Given the description of an element on the screen output the (x, y) to click on. 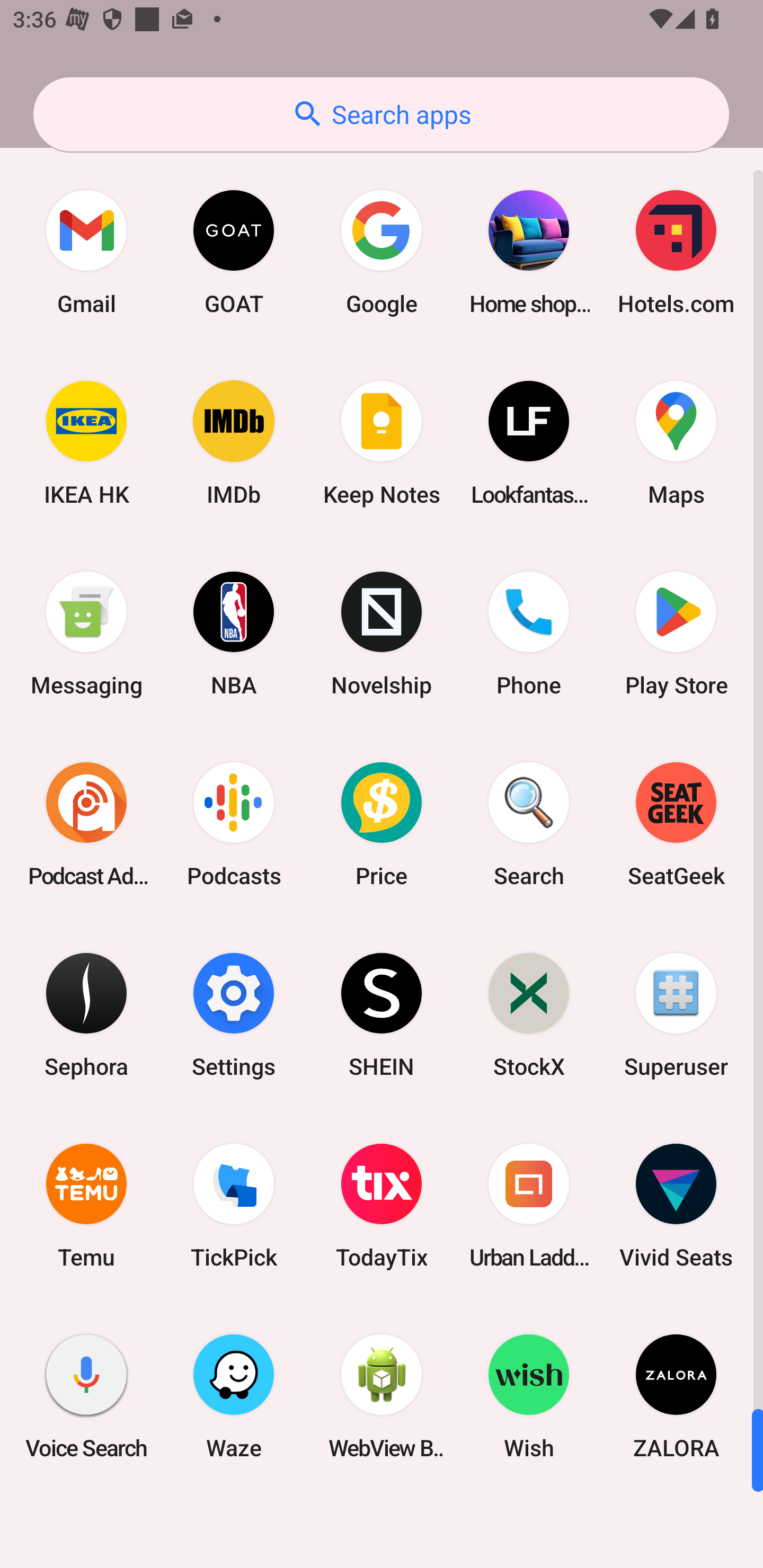
  Search apps (381, 114)
Gmail (86, 252)
GOAT (233, 252)
Google (381, 252)
Home shopping (528, 252)
Hotels.com (676, 252)
IKEA HK (86, 442)
IMDb (233, 442)
Keep Notes (381, 442)
Lookfantastic (528, 442)
Maps (676, 442)
Messaging (86, 633)
NBA (233, 633)
Novelship (381, 633)
Phone (528, 633)
Play Store (676, 633)
Podcast Addict (86, 823)
Podcasts (233, 823)
Price (381, 823)
Search (528, 823)
SeatGeek (676, 823)
Sephora (86, 1014)
Settings (233, 1014)
SHEIN (381, 1014)
StockX (528, 1014)
Superuser (676, 1014)
Temu (86, 1205)
TickPick (233, 1205)
TodayTix (381, 1205)
Urban Ladder (528, 1205)
Vivid Seats (676, 1205)
Voice Search (86, 1396)
Waze (233, 1396)
WebView Browser Tester (381, 1396)
Wish (528, 1396)
ZALORA (676, 1396)
